Given the description of an element on the screen output the (x, y) to click on. 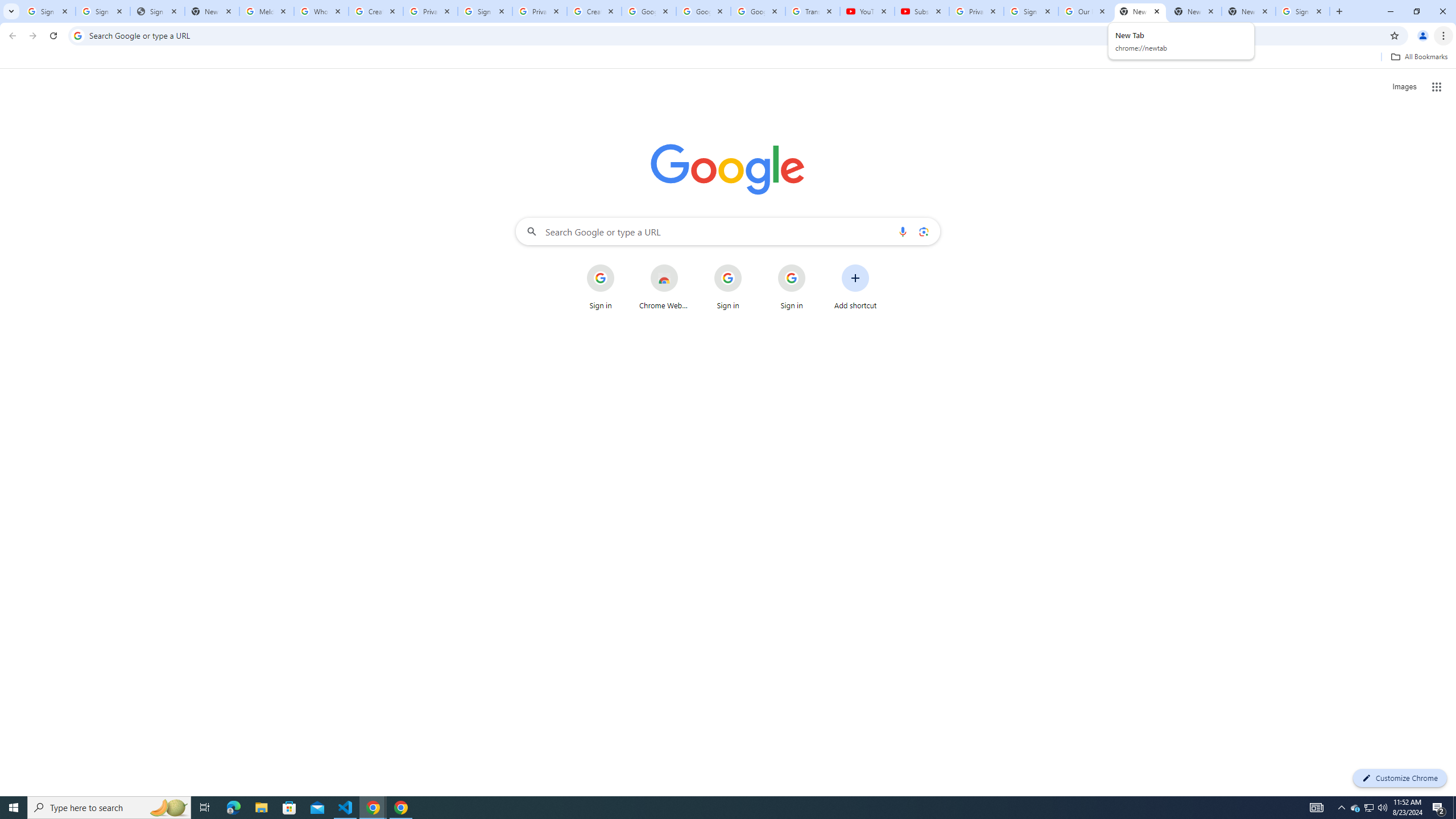
Search Google or type a URL (727, 230)
Google Account (757, 11)
